Given the description of an element on the screen output the (x, y) to click on. 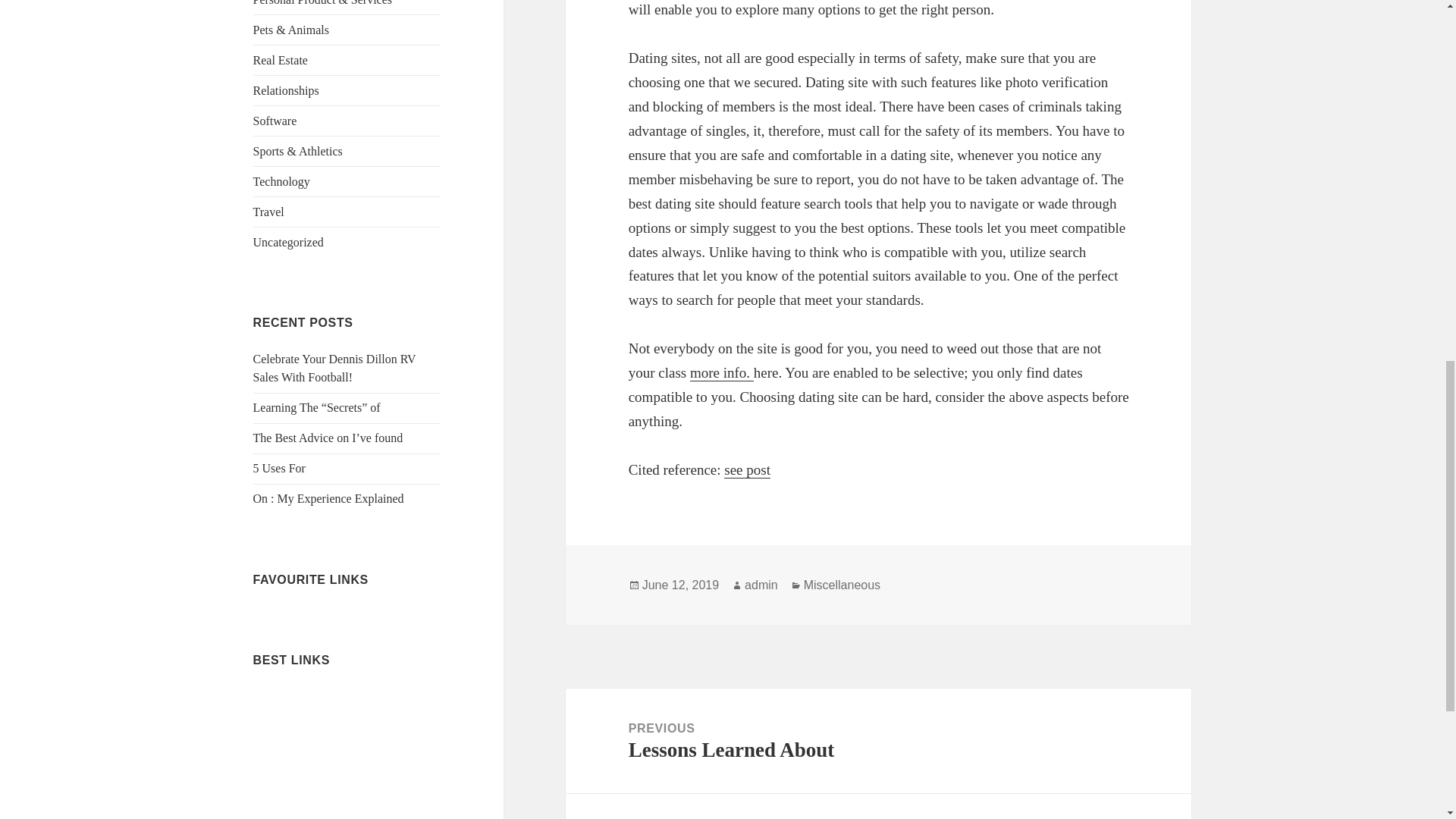
On : My Experience Explained (328, 498)
more info. (722, 372)
Software (275, 120)
Technology (878, 740)
see post (281, 181)
Uncategorized (746, 469)
June 12, 2019 (288, 241)
Real Estate (680, 585)
Celebrate Your Dennis Dillon RV Sales With Football! (280, 60)
